Given the description of an element on the screen output the (x, y) to click on. 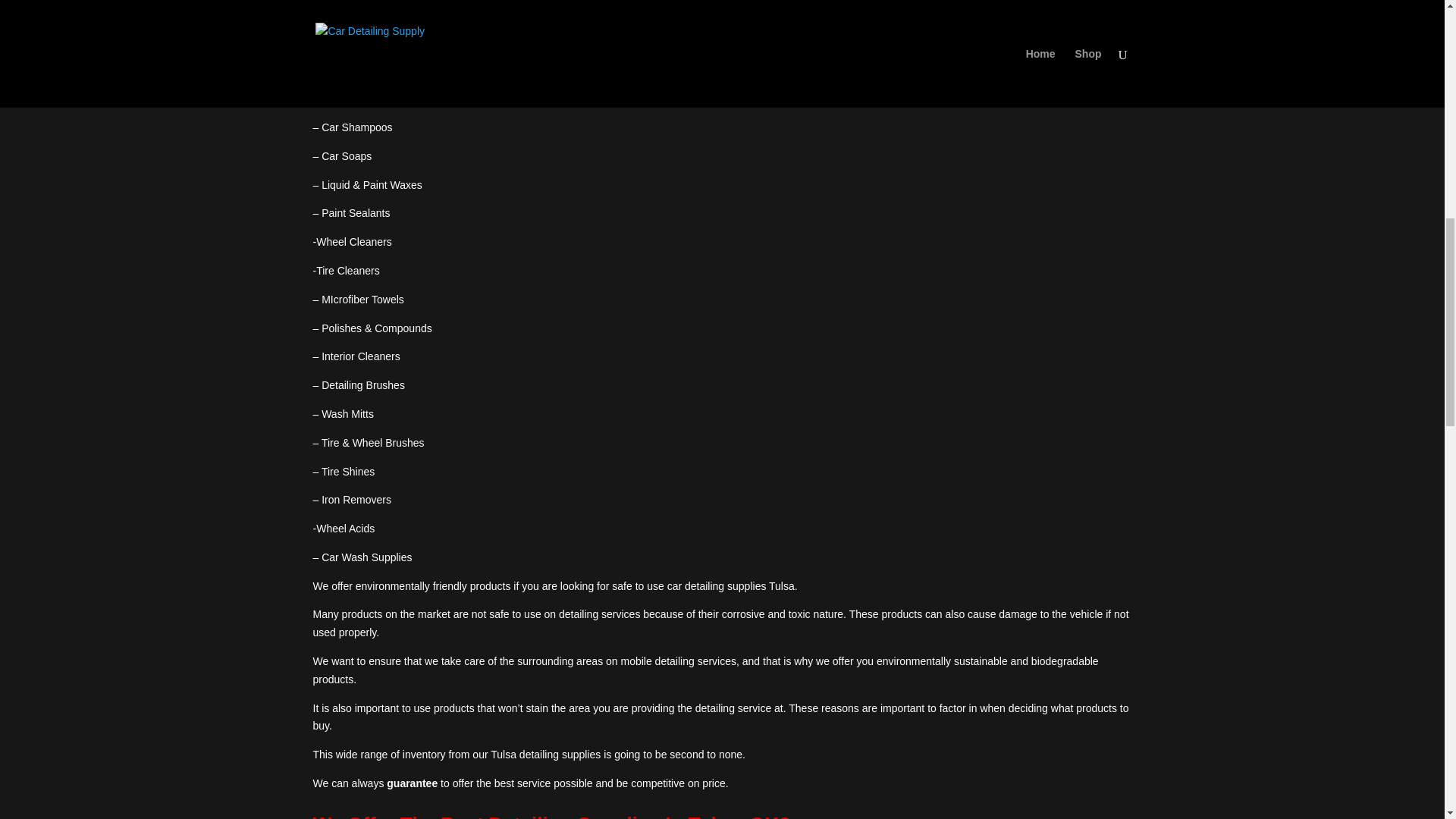
Detailing Excellence (478, 41)
